Given the description of an element on the screen output the (x, y) to click on. 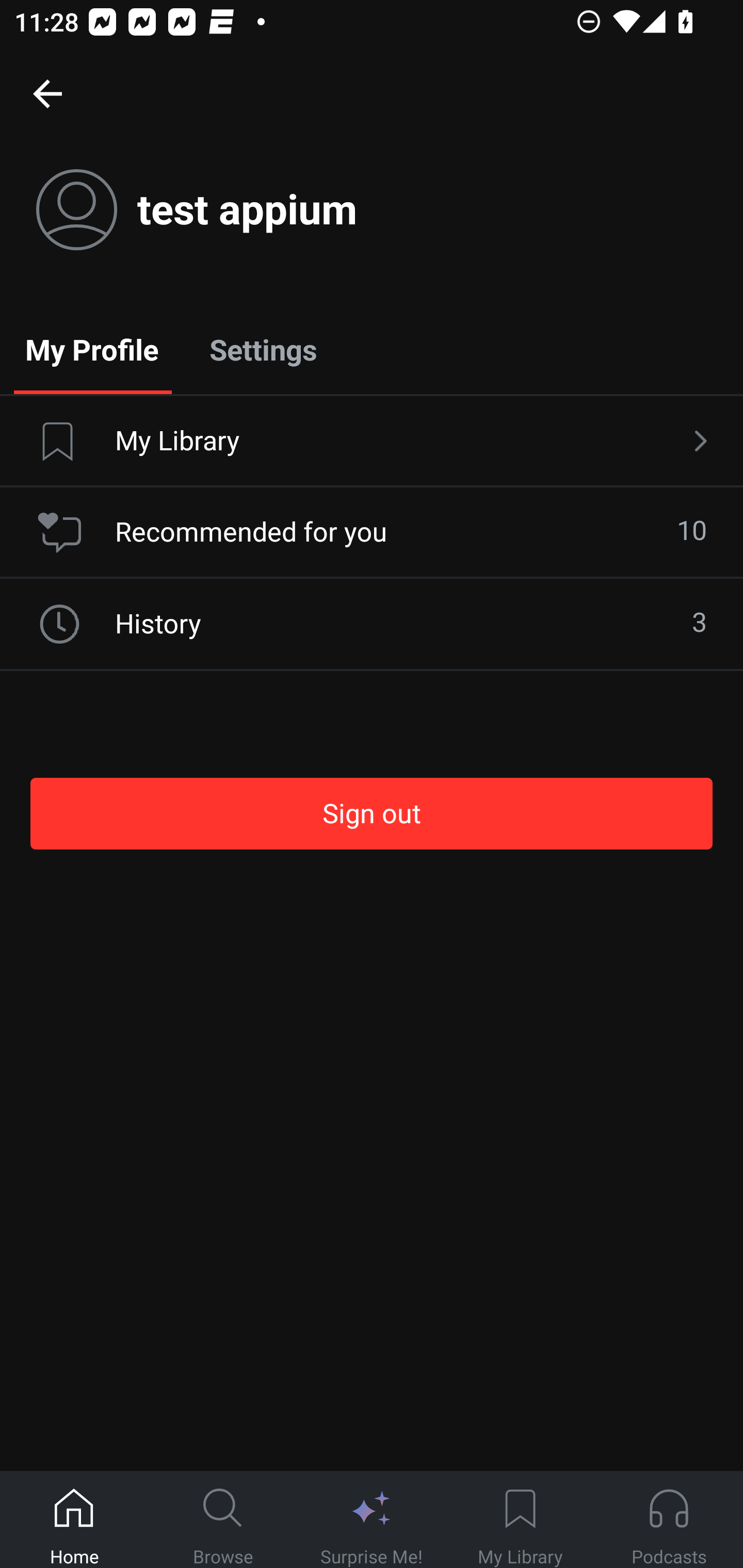
Home, back (47, 92)
My Profile (92, 348)
Settings (263, 348)
My Library (371, 441)
Recommended for you 10 (371, 532)
History 3 (371, 623)
Sign out (371, 813)
Home (74, 1520)
Browse (222, 1520)
Surprise Me! (371, 1520)
My Library (519, 1520)
Podcasts (668, 1520)
